Given the description of an element on the screen output the (x, y) to click on. 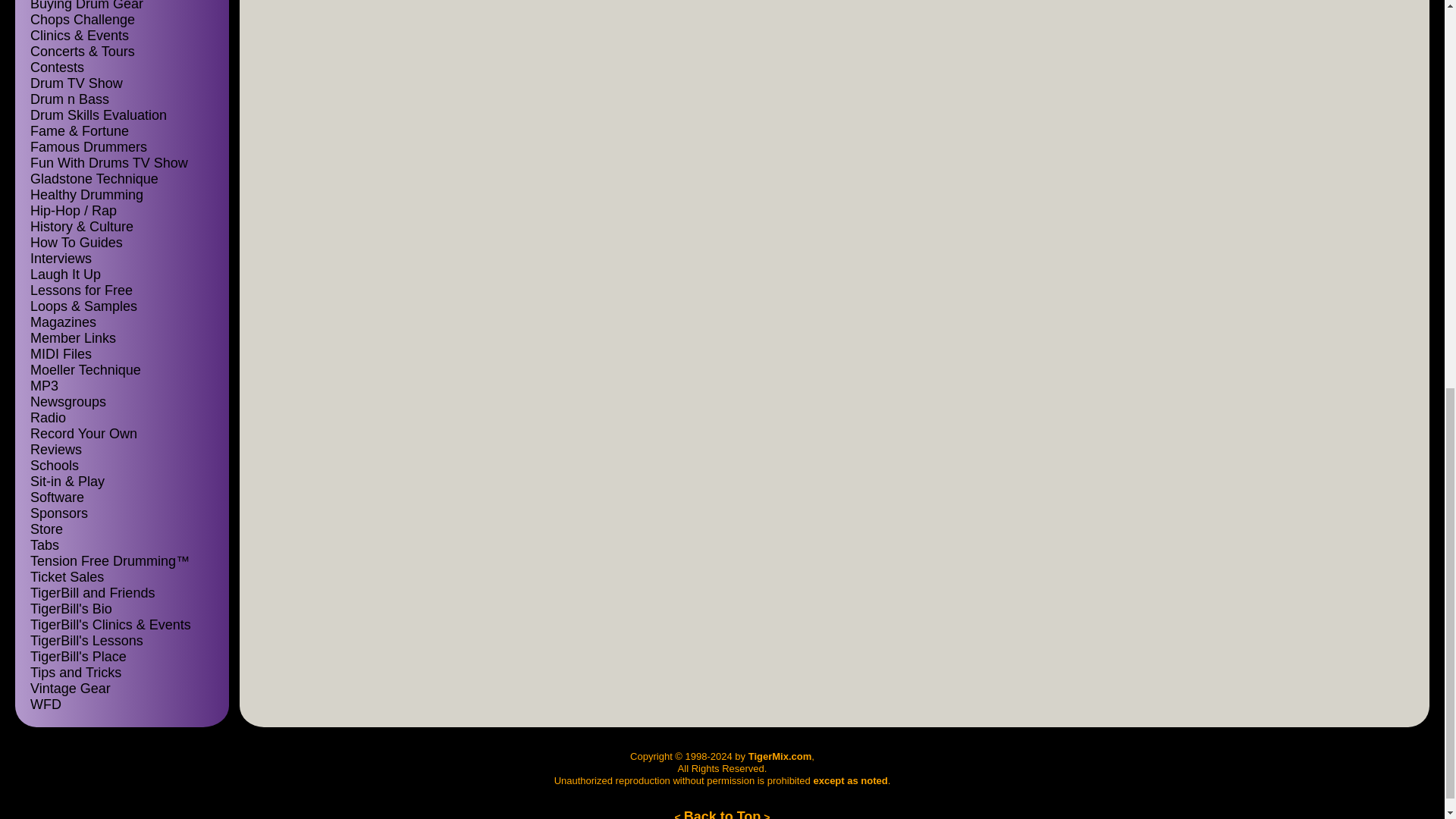
Fun With Drums TV Show (108, 162)
Chops Challenge (82, 19)
Healthy Drumming (86, 194)
Gladstone Technique (94, 178)
How To Guides (76, 242)
Famous Drummers (88, 146)
Laugh It Up (65, 273)
Drum TV Show (76, 83)
Drum n Bass (69, 99)
Lessons for Free (81, 290)
